Given the description of an element on the screen output the (x, y) to click on. 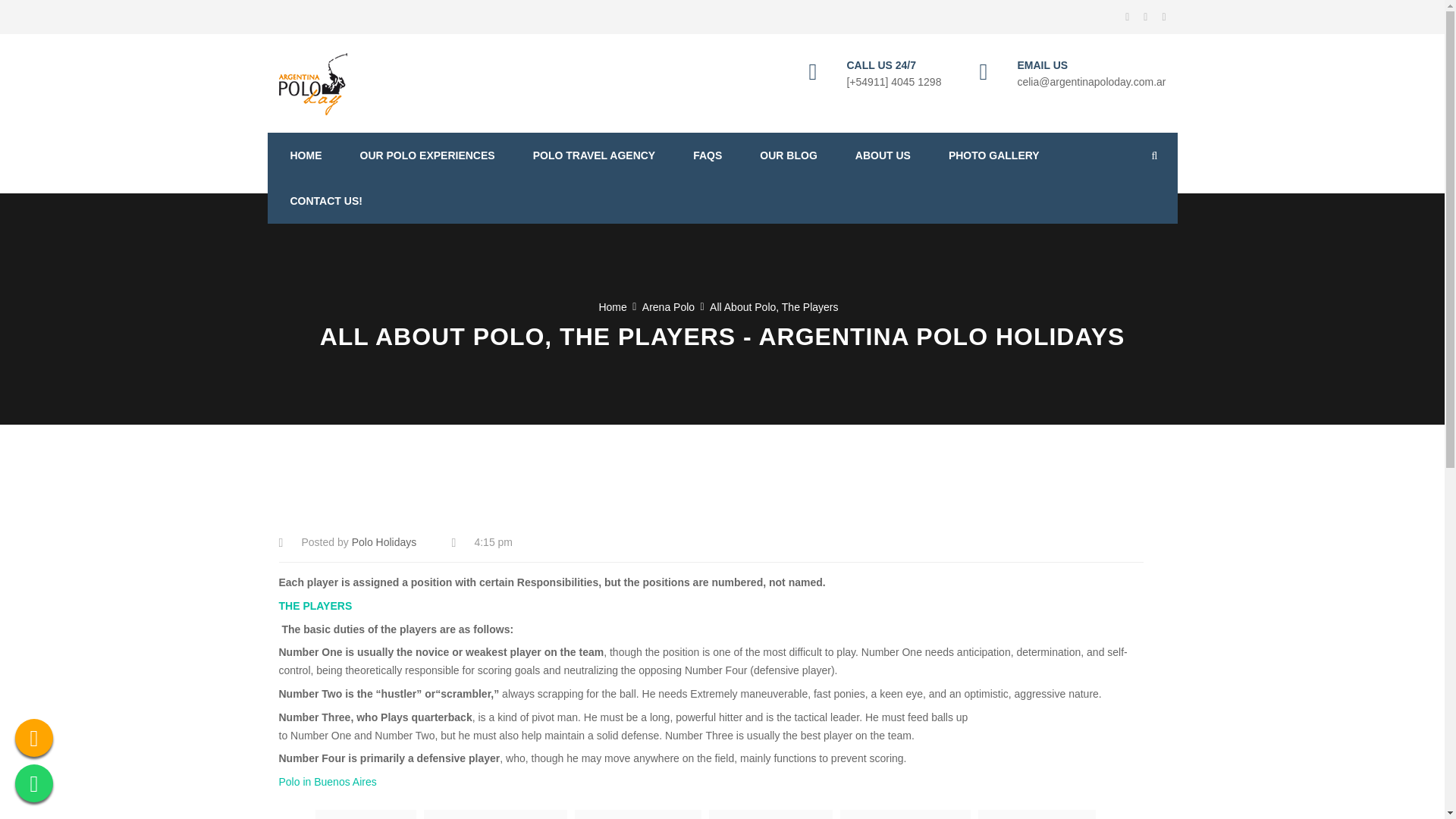
THE PLAYERS  (317, 605)
Our Polo Experiences (427, 155)
OUR POLO EXPERIENCES (427, 155)
POLO EVERY DAY (770, 814)
Home (612, 306)
PHOTO GALLERY (994, 155)
Contact Us! (325, 200)
POLO ARGENTINO (638, 814)
Polo Travel Agency (594, 155)
OUR BLOG (788, 155)
ABOUT US (883, 155)
CONTACT US! (325, 200)
POLO FOR WOMEN (905, 814)
ARENA POLO (365, 814)
Photo Gallery (994, 155)
